Given the description of an element on the screen output the (x, y) to click on. 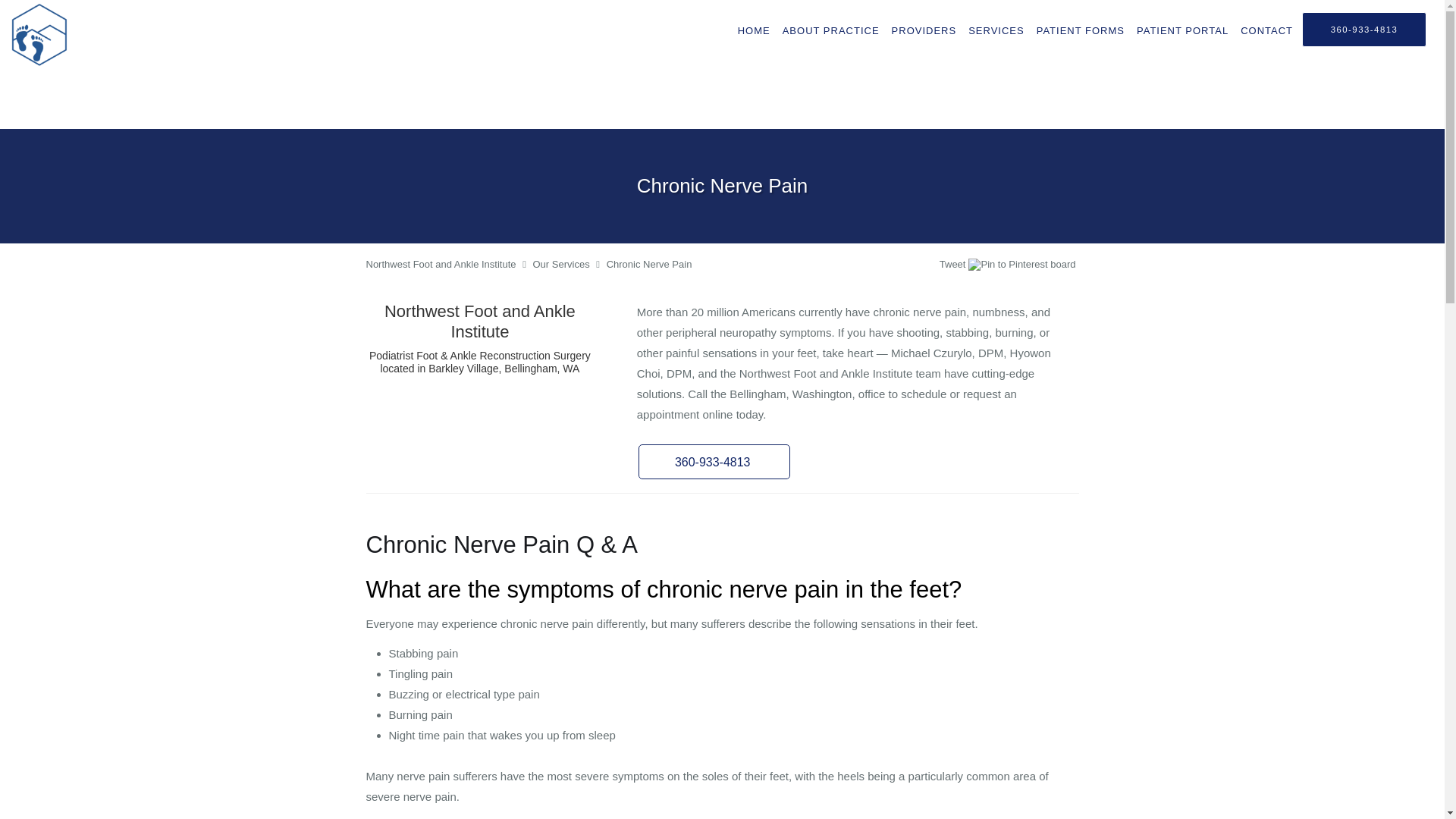
SERVICES (996, 30)
360-933-4813 (1363, 29)
ABOUT PRACTICE (830, 30)
PATIENT PORTAL (1182, 30)
CONTACT (1266, 30)
Skip to main content (74, 7)
Facebook social button (880, 266)
PATIENT FORMS (1080, 30)
PROVIDERS (923, 30)
